Given the description of an element on the screen output the (x, y) to click on. 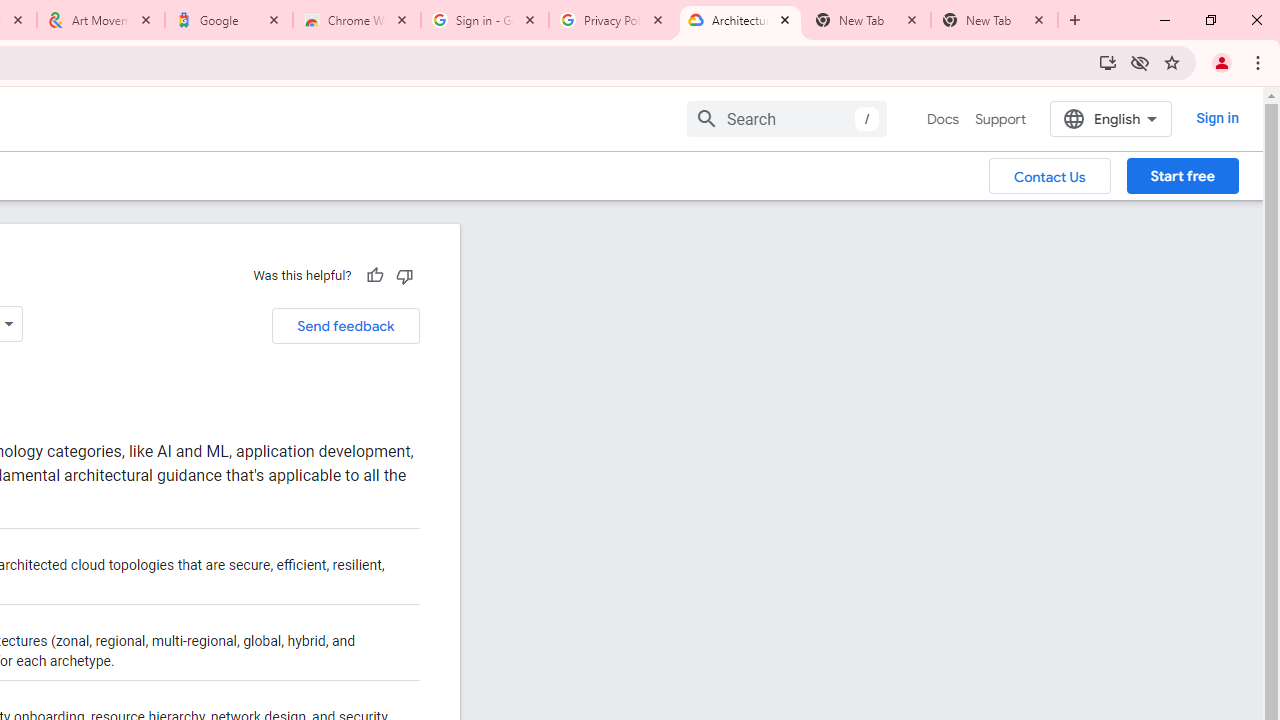
English (1110, 118)
Send feedback (345, 326)
Sign in - Google Accounts (485, 20)
Support (1000, 119)
New Tab (994, 20)
Docs, selected (942, 119)
Chrome Web Store - Color themes by Chrome (357, 20)
